Given the description of an element on the screen output the (x, y) to click on. 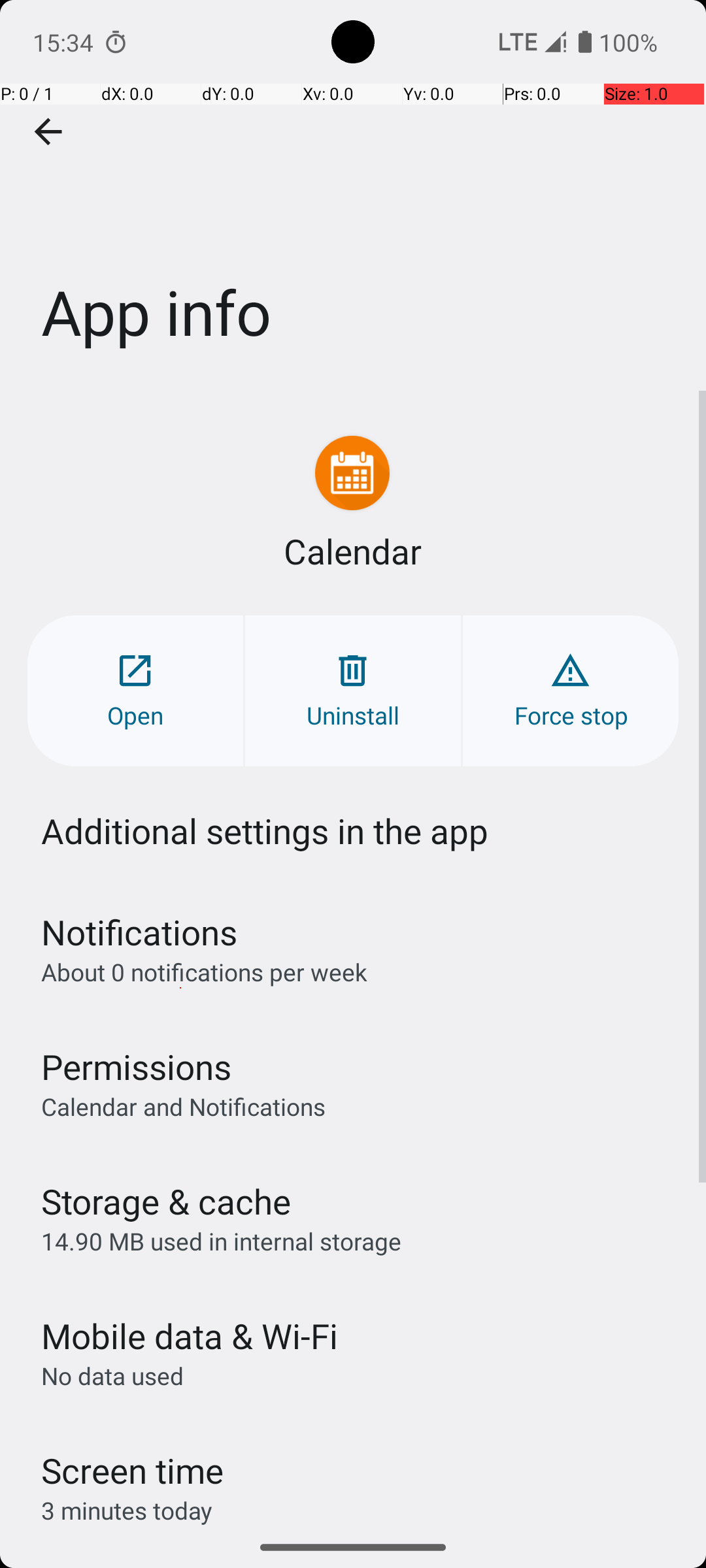
Uninstall Element type: android.widget.Button (352, 690)
Additional settings in the app Element type: android.widget.TextView (264, 830)
About 0 notifications per week Element type: android.widget.TextView (204, 971)
Calendar and Notifications Element type: android.widget.TextView (183, 1106)
14.90 MB used in internal storage Element type: android.widget.TextView (221, 1240)
3 minutes today Element type: android.widget.TextView (127, 1509)
